Given the description of an element on the screen output the (x, y) to click on. 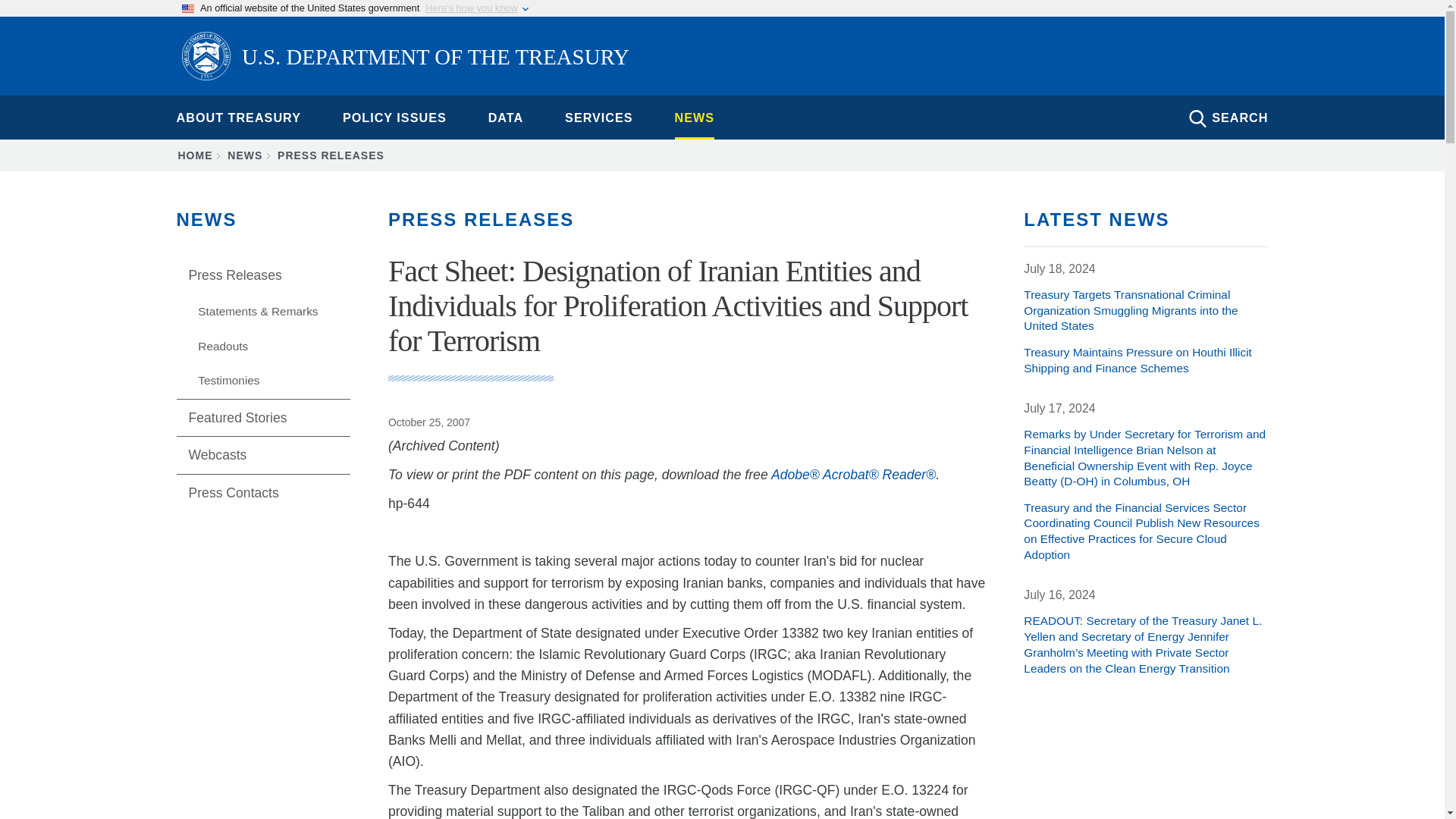
This link opens in a new window. (853, 474)
ABOUT TREASURY (238, 117)
U.S. DEPARTMENT OF THE TREASURY (405, 58)
Home (405, 58)
